Given the description of an element on the screen output the (x, y) to click on. 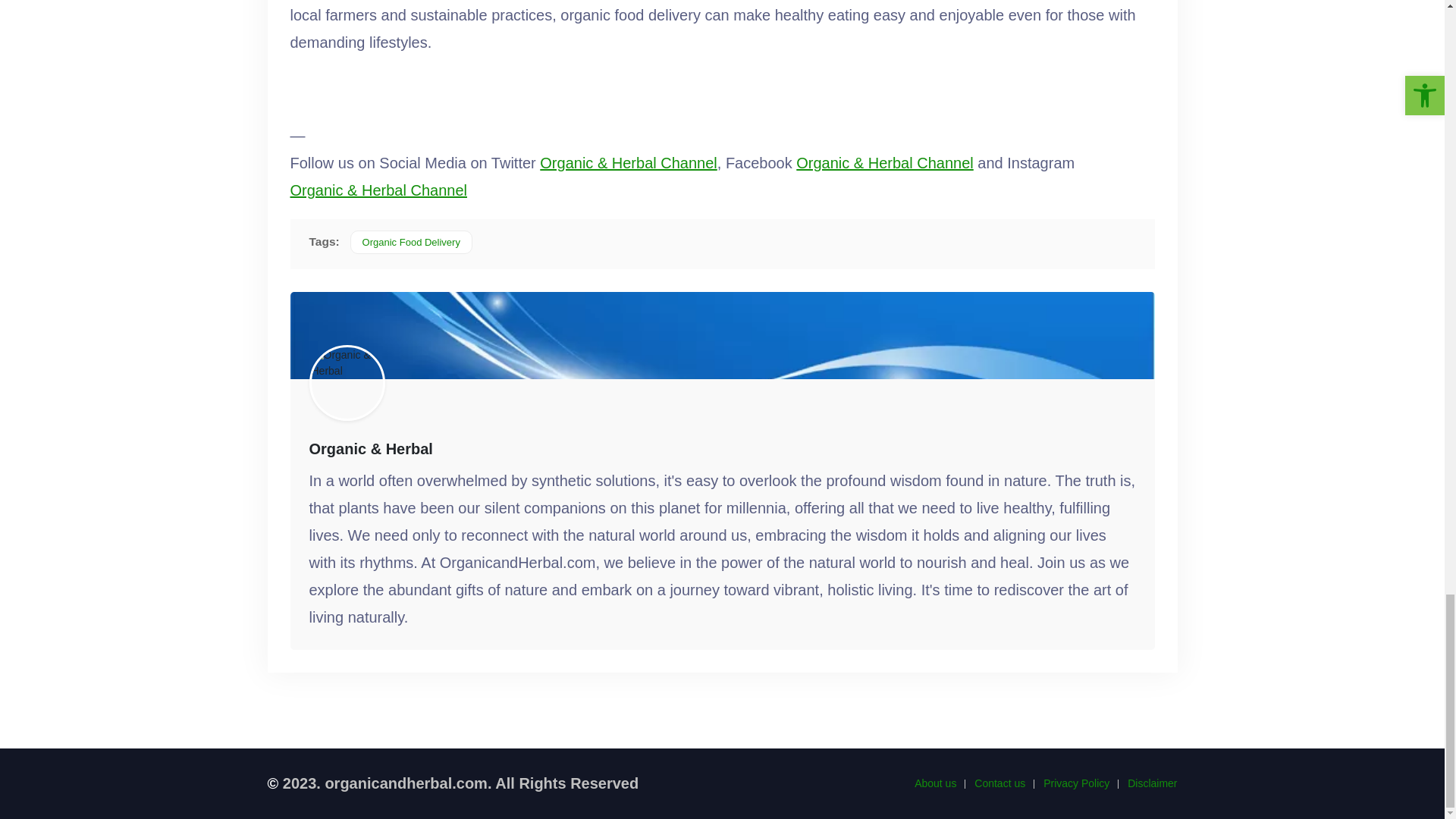
Disclaimer (1151, 783)
Organic Food Delivery (410, 241)
Privacy Policy (1076, 783)
About us (935, 783)
Contact us (999, 783)
